Given the description of an element on the screen output the (x, y) to click on. 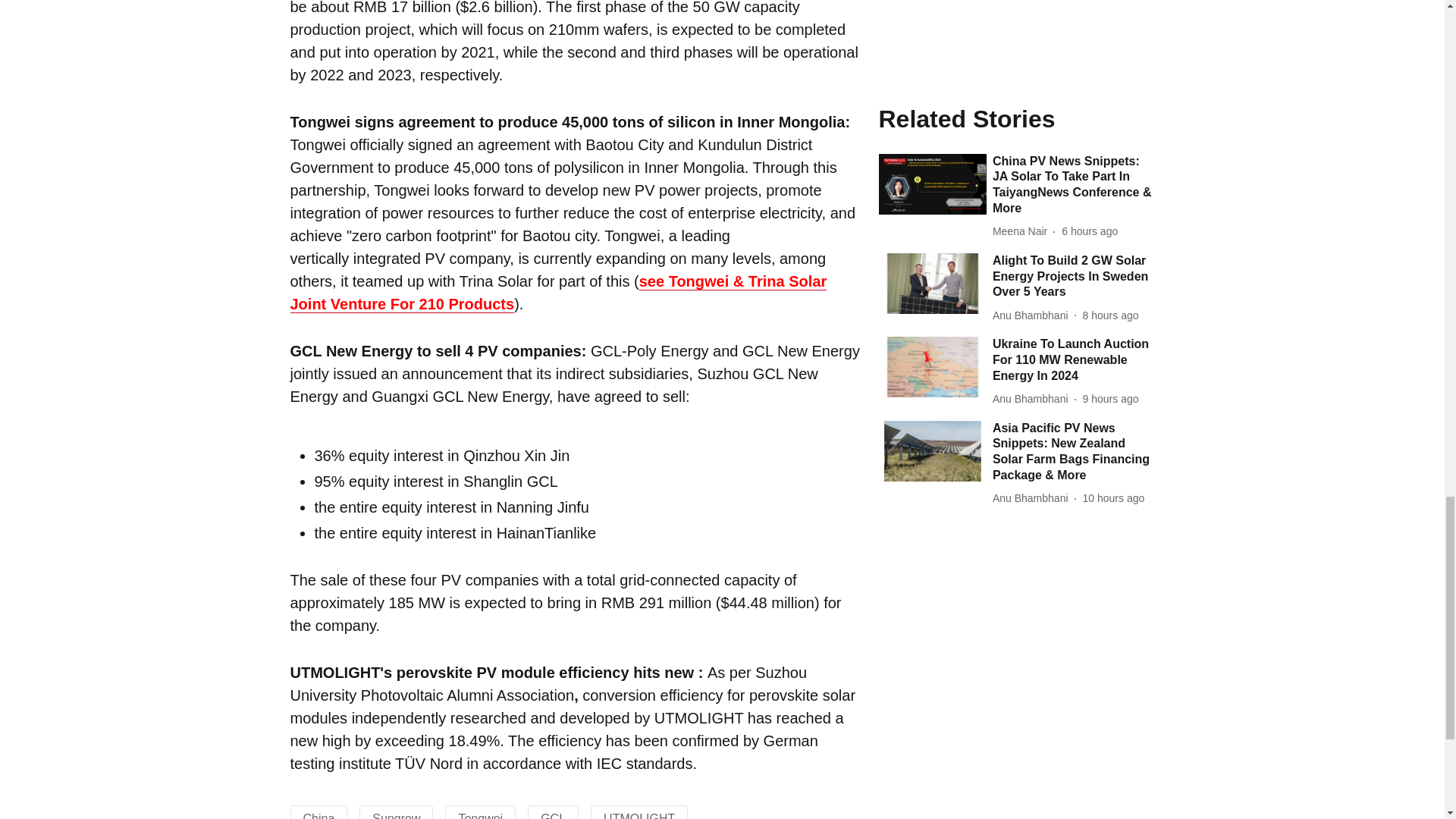
Sungrow (396, 815)
UTMOLIGHT (639, 815)
China (318, 815)
Tongwei (480, 815)
GCL (553, 815)
